Given the description of an element on the screen output the (x, y) to click on. 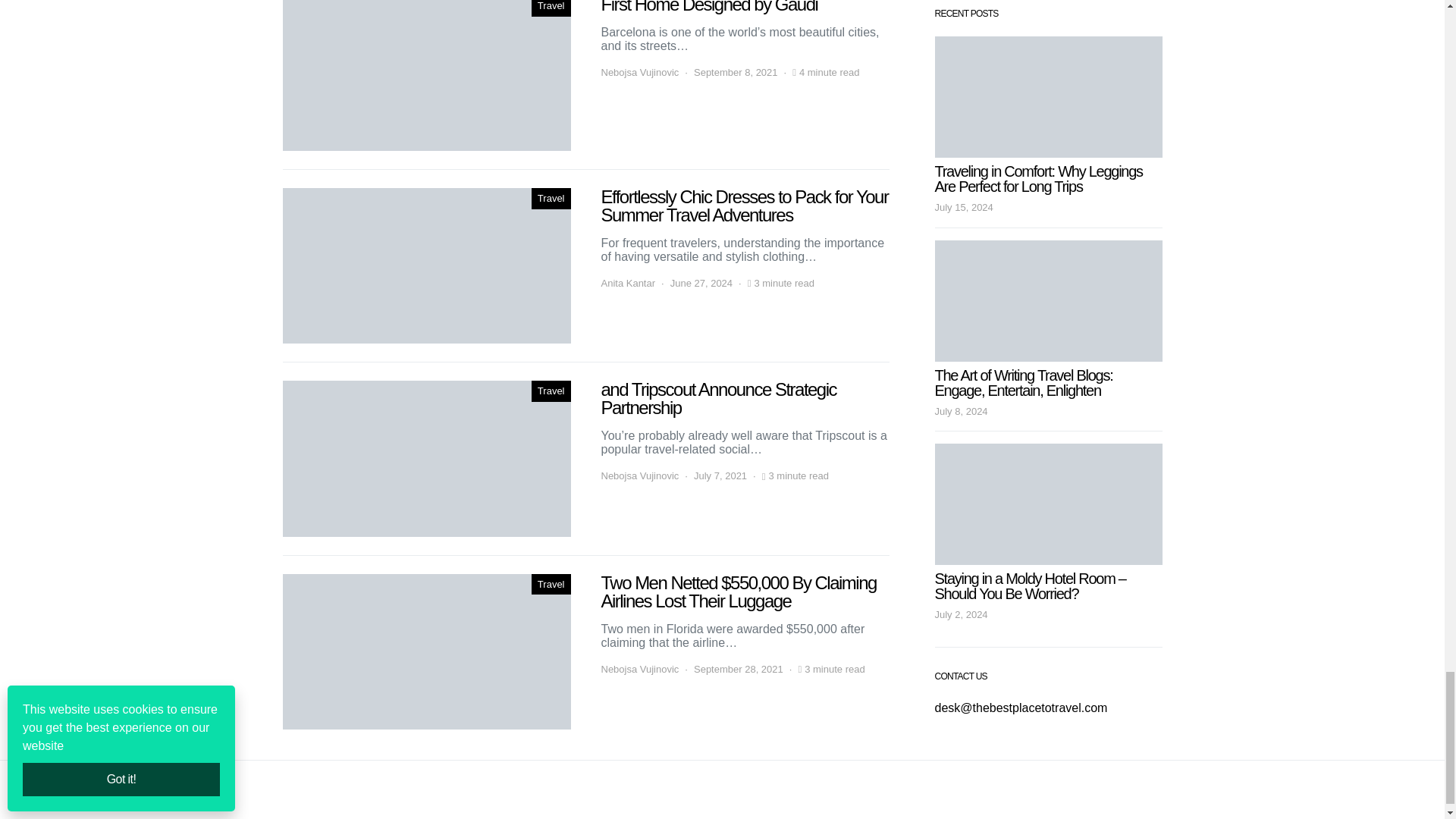
Travel (550, 198)
View all posts by Anita Kantar (627, 283)
Travel (550, 391)
Anita Kantar (627, 283)
View all posts by Nebojsa Vujinovic (638, 476)
Nebojsa Vujinovic (638, 476)
View all posts by Nebojsa Vujinovic (638, 669)
Nebojsa Vujinovic (638, 72)
Travel (550, 8)
View all posts by Nebojsa Vujinovic (638, 72)
